Given the description of an element on the screen output the (x, y) to click on. 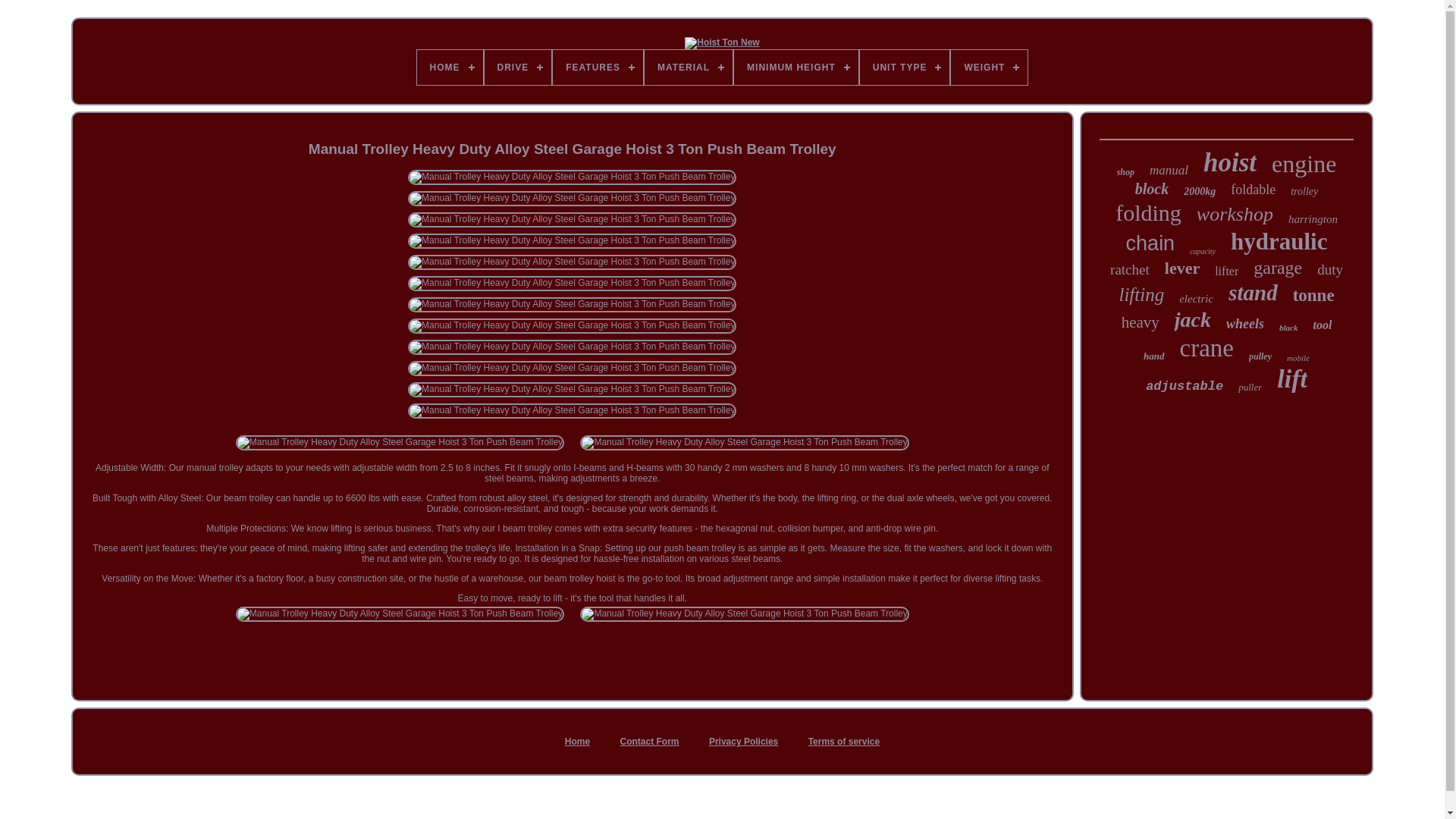
DRIVE (517, 67)
MATERIAL (688, 67)
FEATURES (598, 67)
HOME (449, 67)
